Given the description of an element on the screen output the (x, y) to click on. 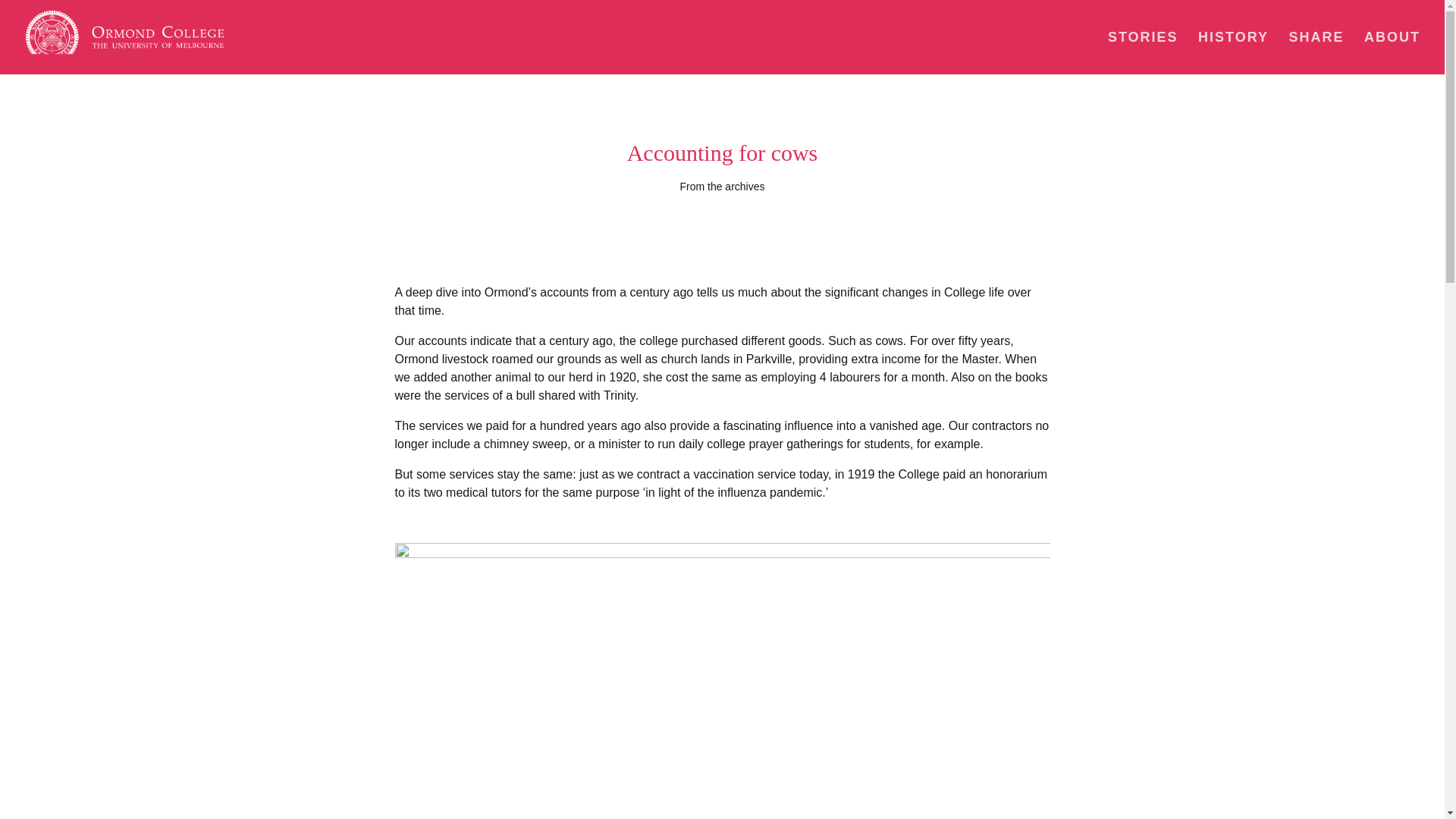
STORIES (1142, 52)
ABOUT (1392, 52)
SHARE (1315, 52)
HISTORY (1233, 52)
